Given the description of an element on the screen output the (x, y) to click on. 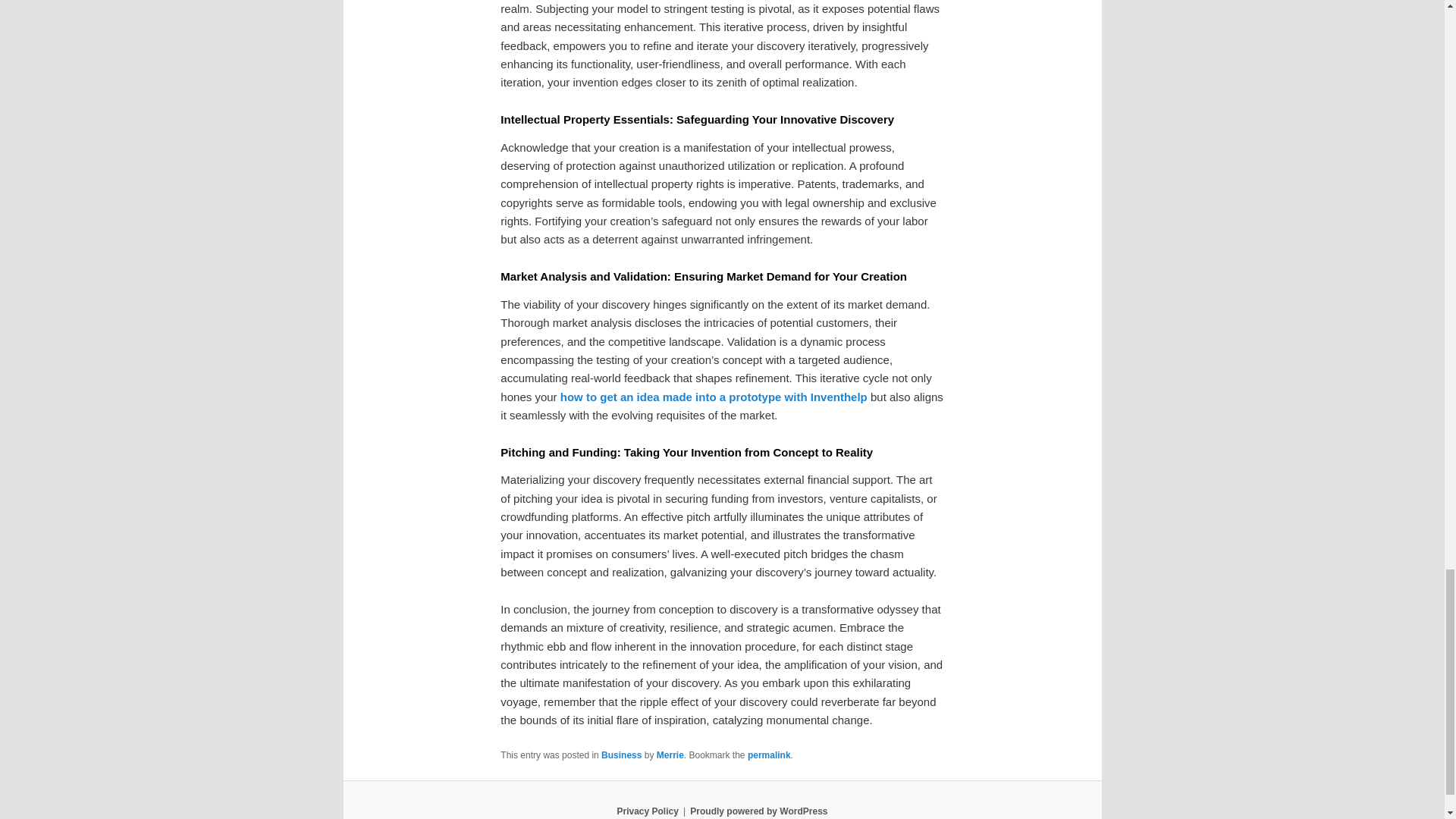
how to get an idea made into a prototype with Inventhelp (713, 396)
Business (621, 755)
Semantic Personal Publishing Platform (758, 810)
permalink (769, 755)
Merrie (670, 755)
Privacy Policy (646, 810)
Proudly powered by WordPress (758, 810)
